Given the description of an element on the screen output the (x, y) to click on. 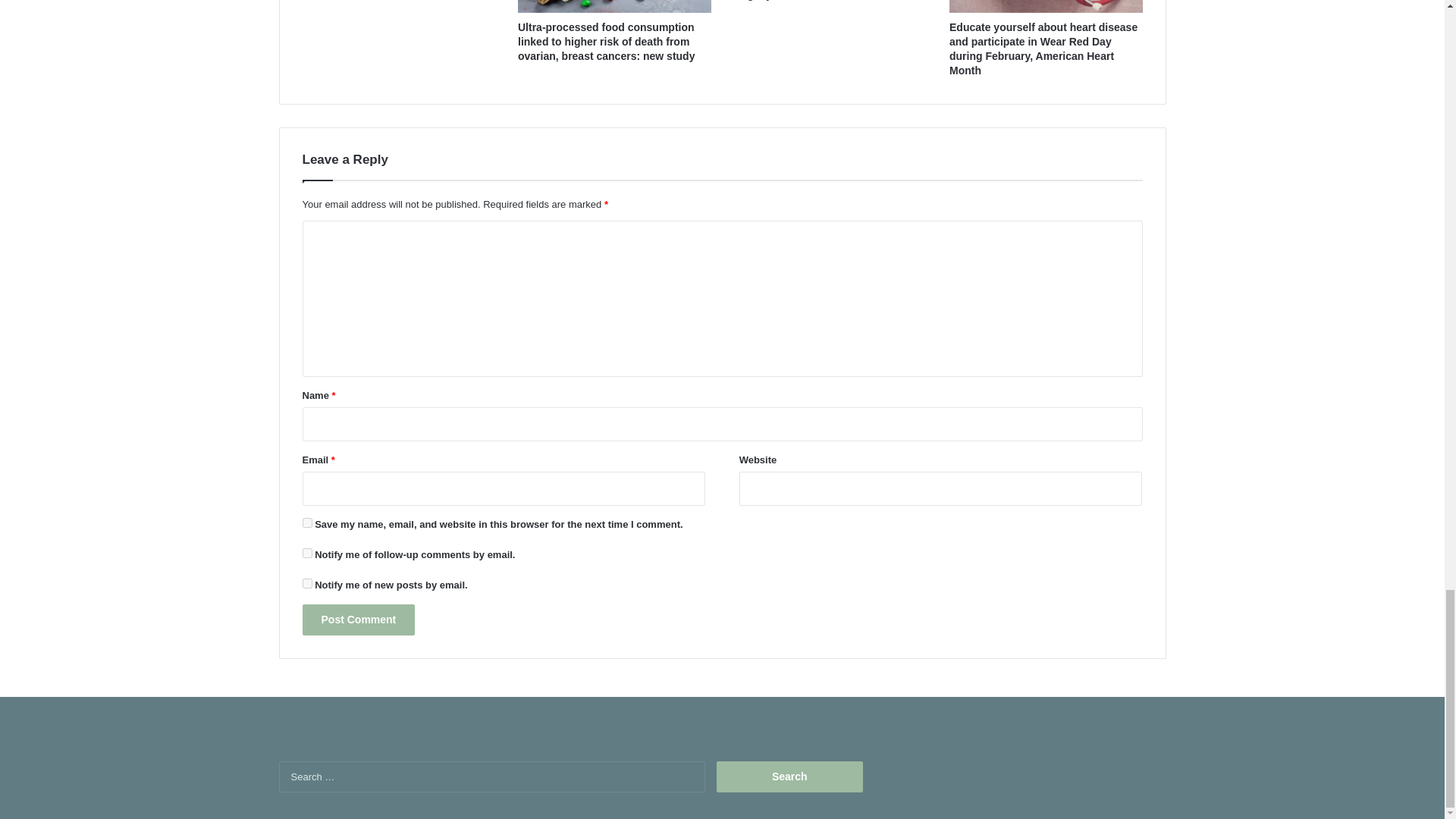
Search (789, 776)
subscribe (306, 583)
Search (789, 776)
subscribe (306, 552)
yes (306, 522)
Post Comment (357, 619)
